Given the description of an element on the screen output the (x, y) to click on. 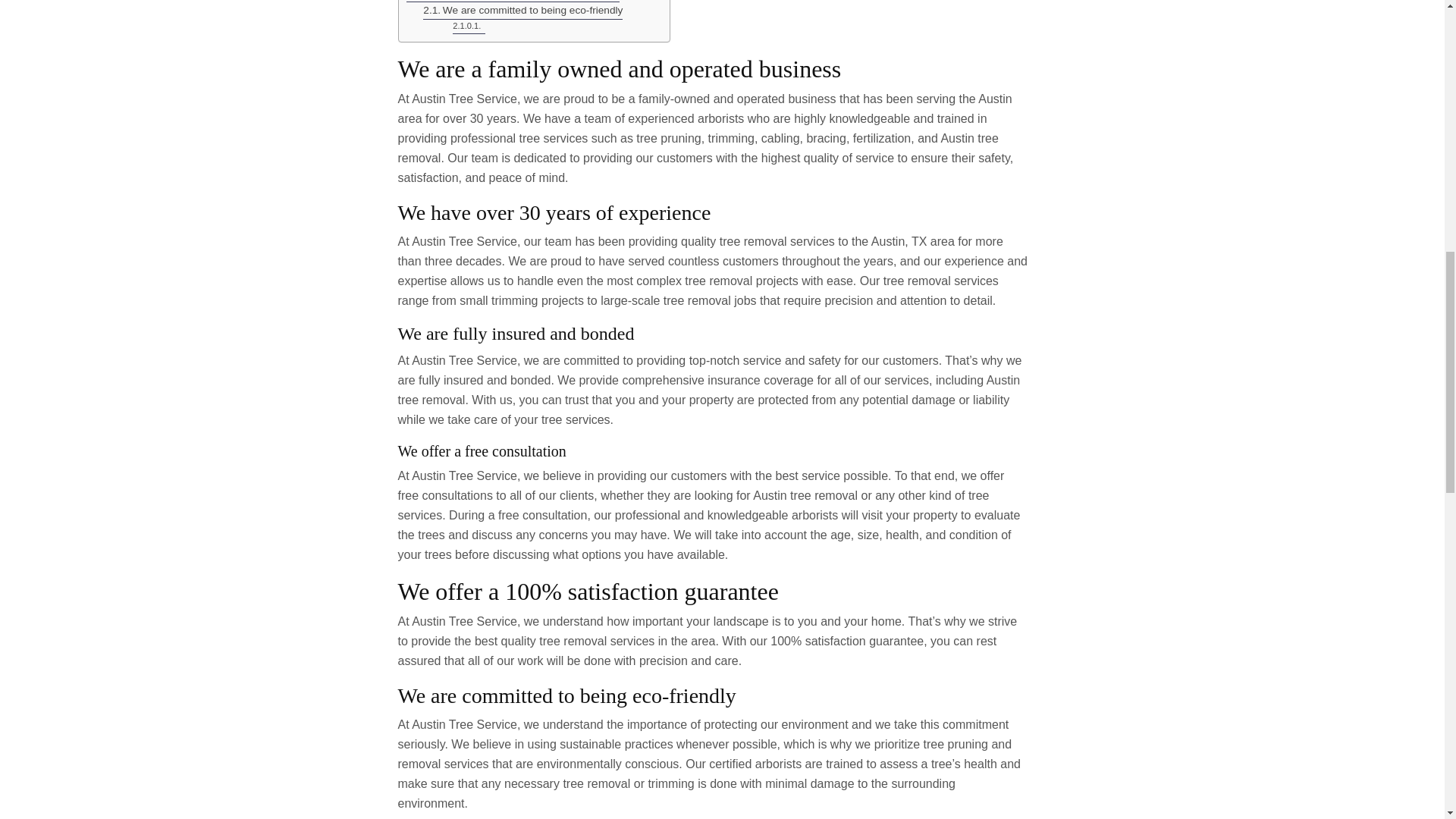
We are committed to being eco-friendly (523, 10)
We are committed to being eco-friendly (523, 10)
